Given the description of an element on the screen output the (x, y) to click on. 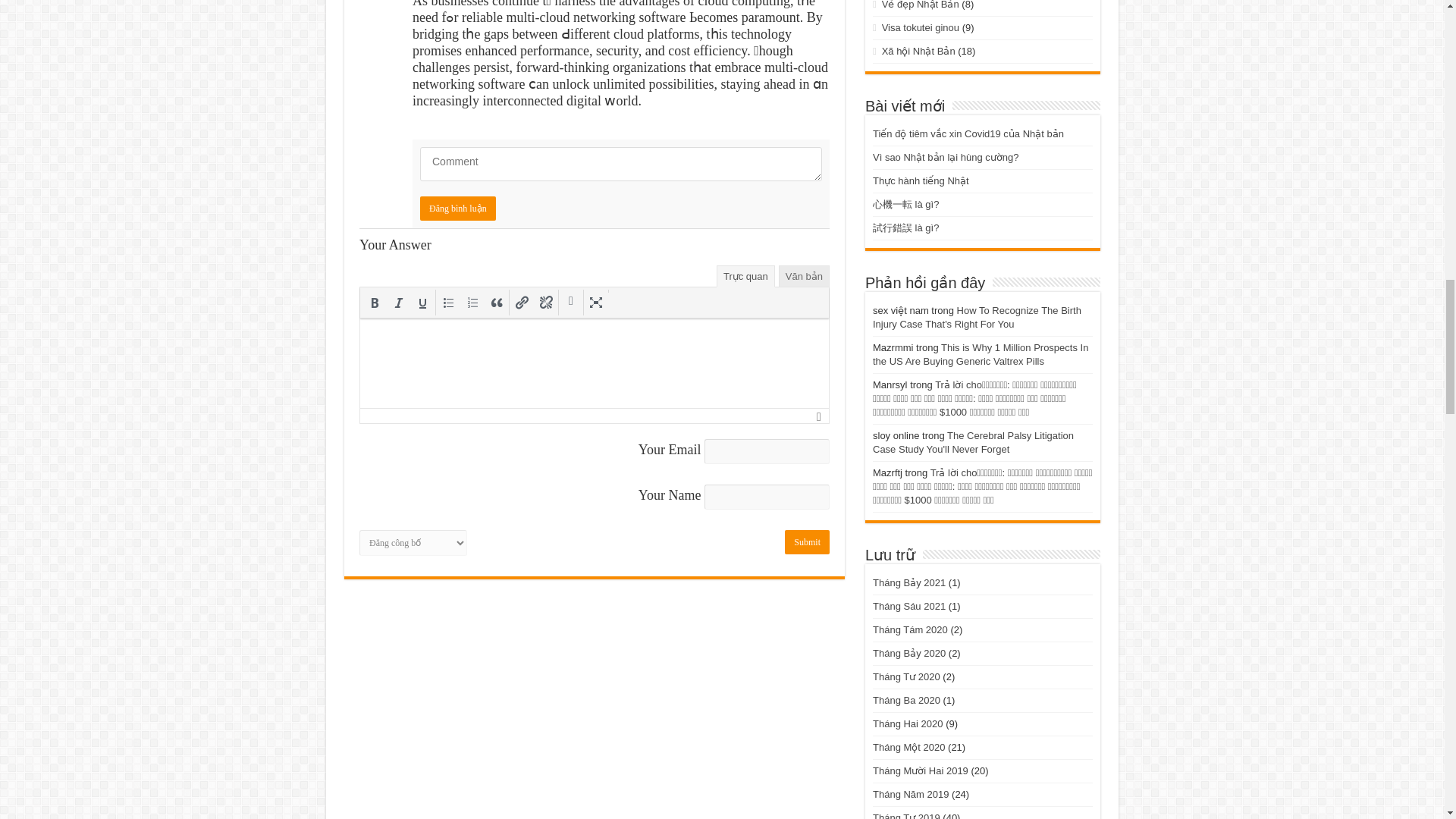
Submit (806, 541)
